Given the description of an element on the screen output the (x, y) to click on. 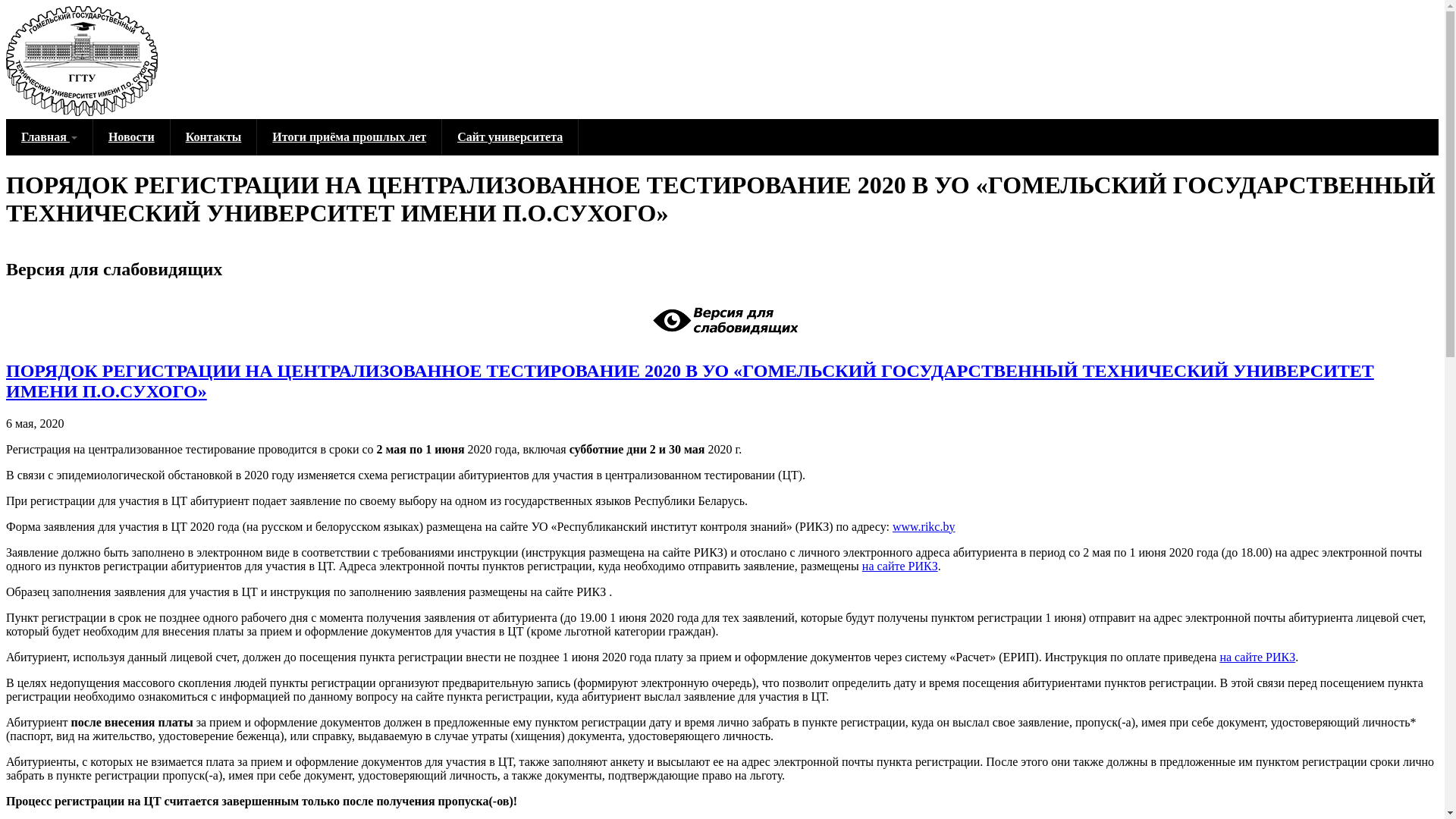
www.rikc.by Element type: text (923, 526)
Visually impaired site version Element type: text (721, 319)
